Given the description of an element on the screen output the (x, y) to click on. 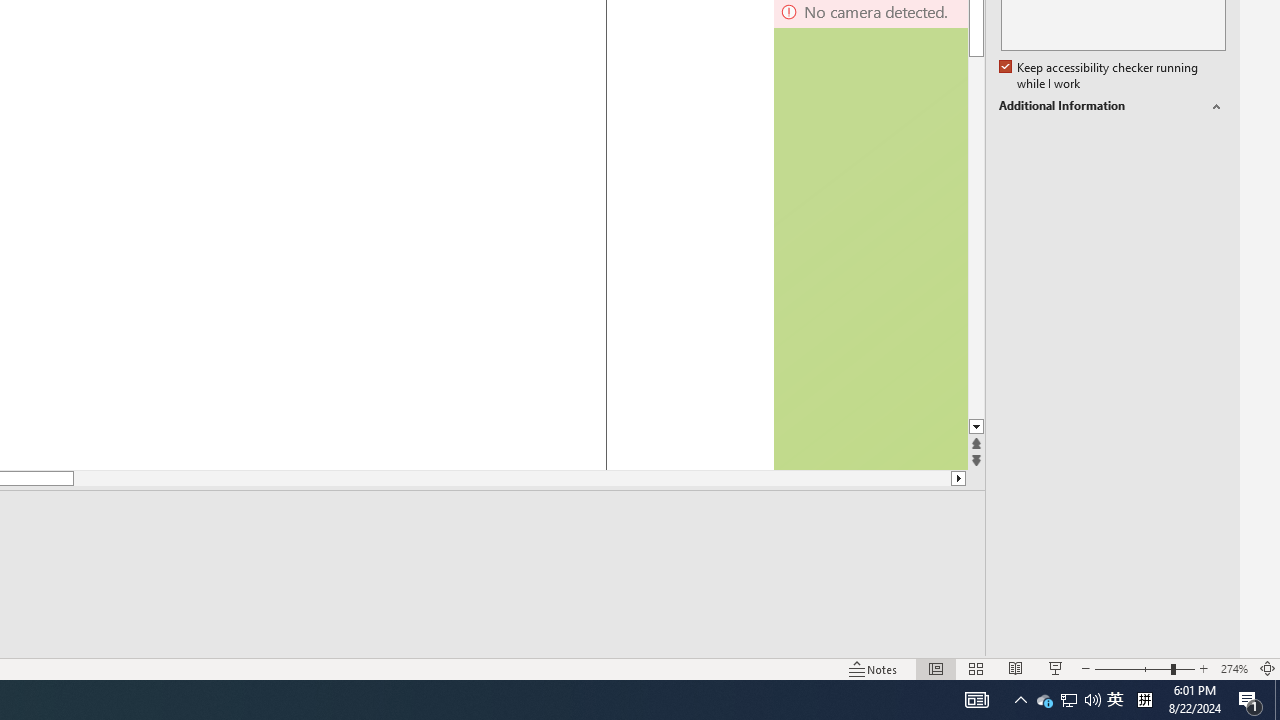
IME Mode Icon - IME is disabled (1115, 699)
Zoom 274% (1234, 668)
